Given the description of an element on the screen output the (x, y) to click on. 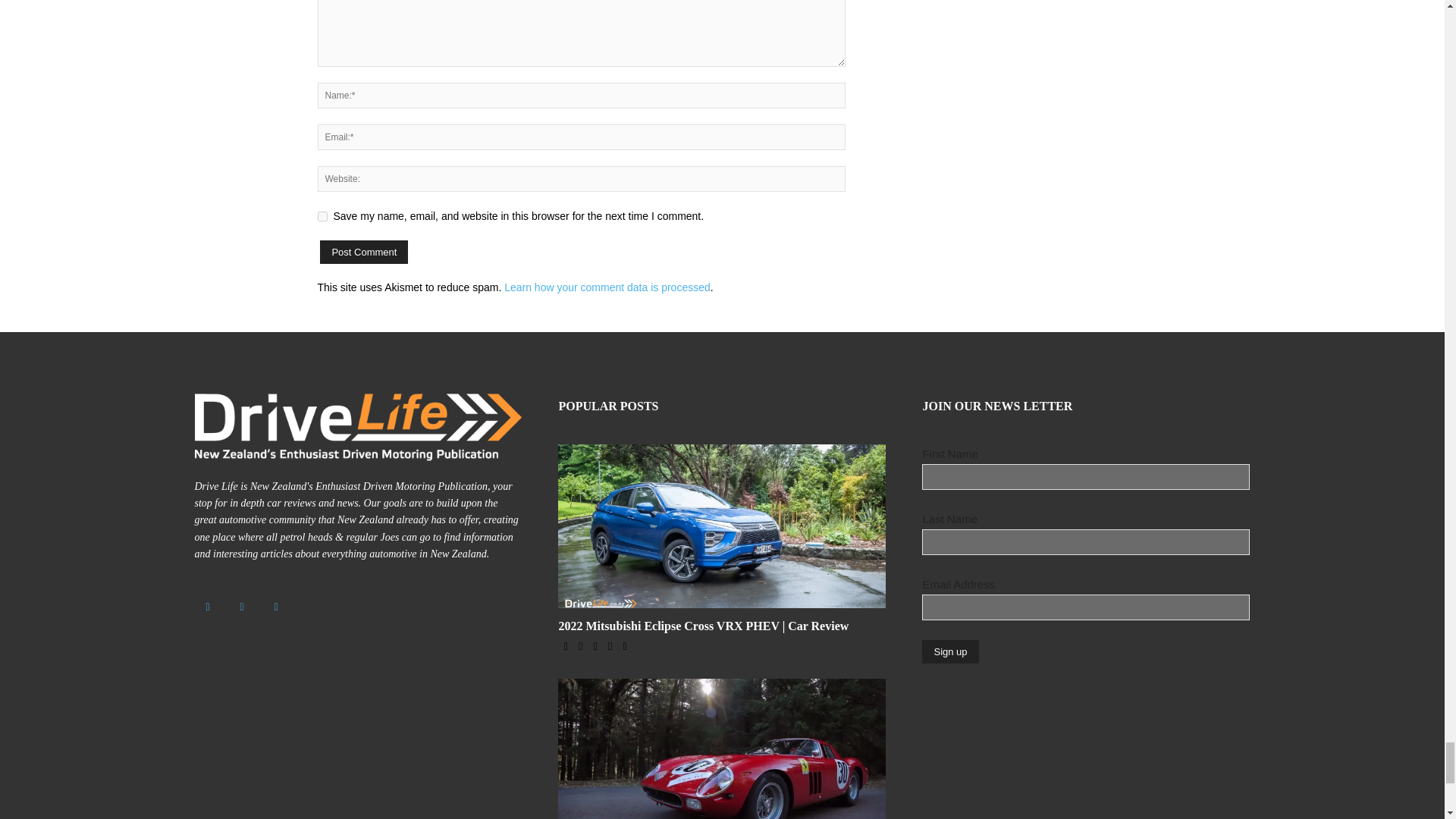
yes (321, 216)
Post Comment (363, 251)
Sign up (949, 651)
